Given the description of an element on the screen output the (x, y) to click on. 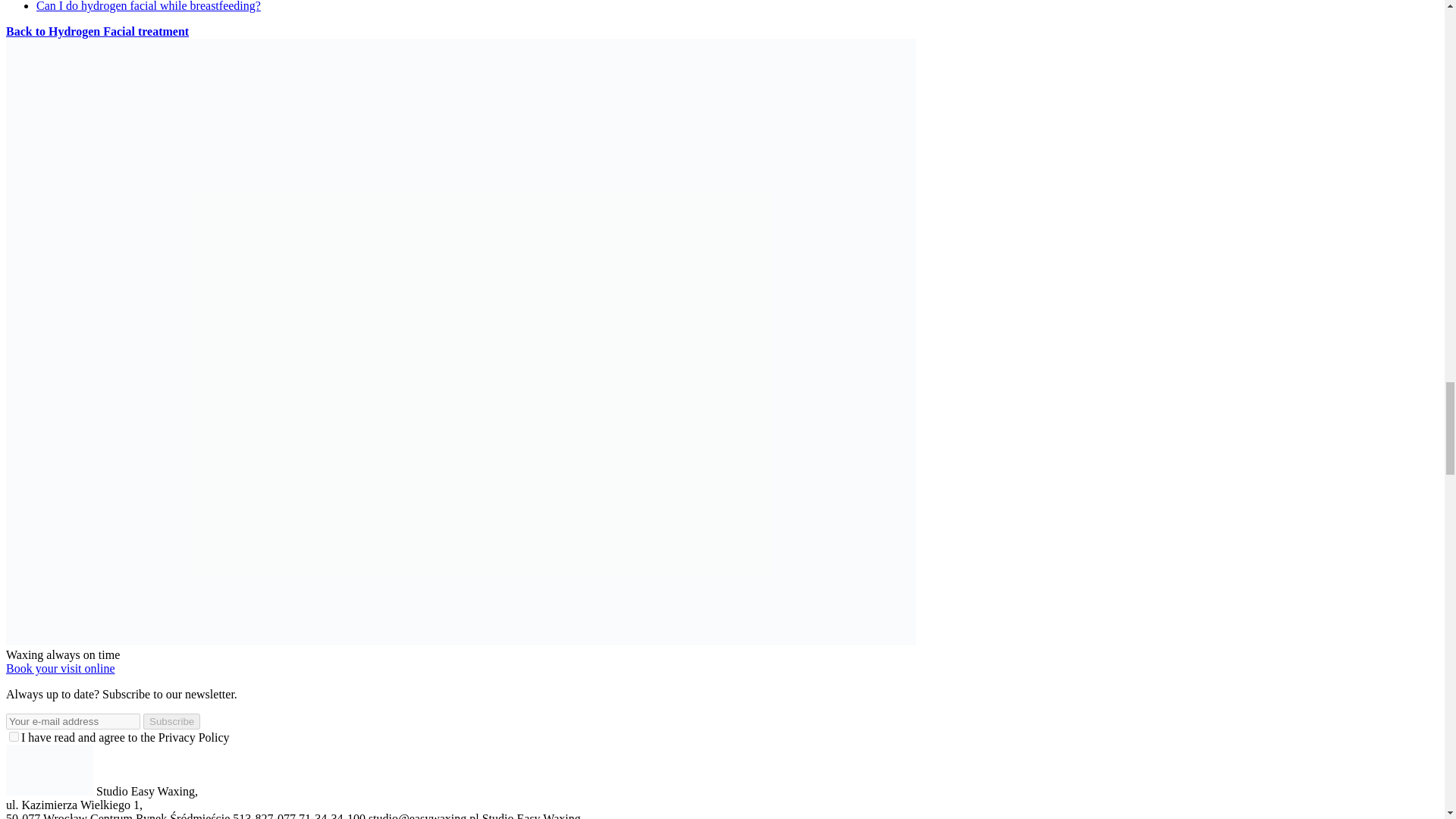
on (13, 737)
Subscribe (171, 721)
